Given the description of an element on the screen output the (x, y) to click on. 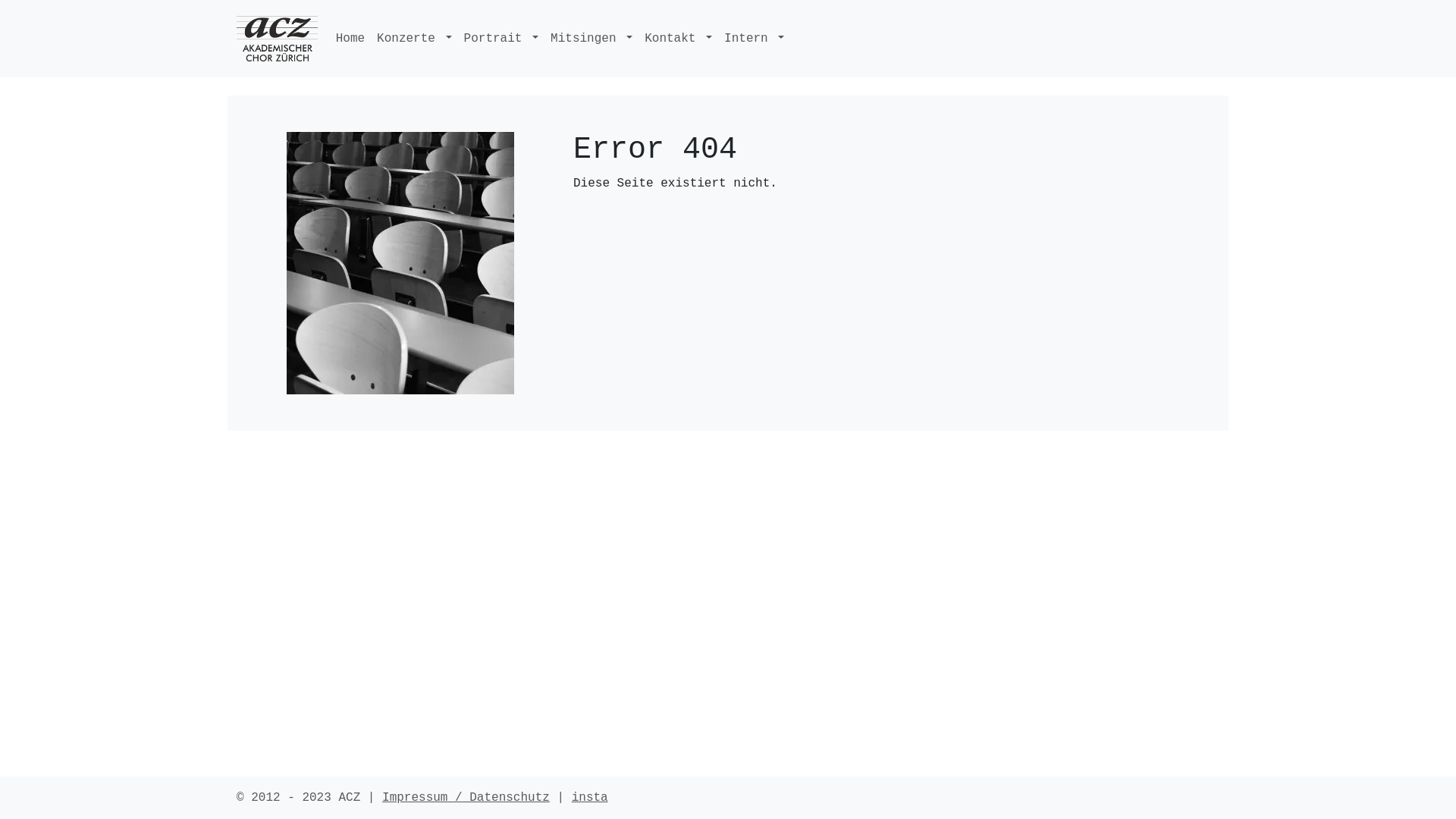
Home Element type: text (349, 38)
Konzerte Element type: text (414, 38)
Impressum / Datenschutz Element type: text (465, 797)
Portrait Element type: text (501, 38)
Mitsingen Element type: text (591, 38)
Intern Element type: text (754, 38)
Kontakt Element type: text (678, 38)
insta Element type: text (589, 797)
